Given the description of an element on the screen output the (x, y) to click on. 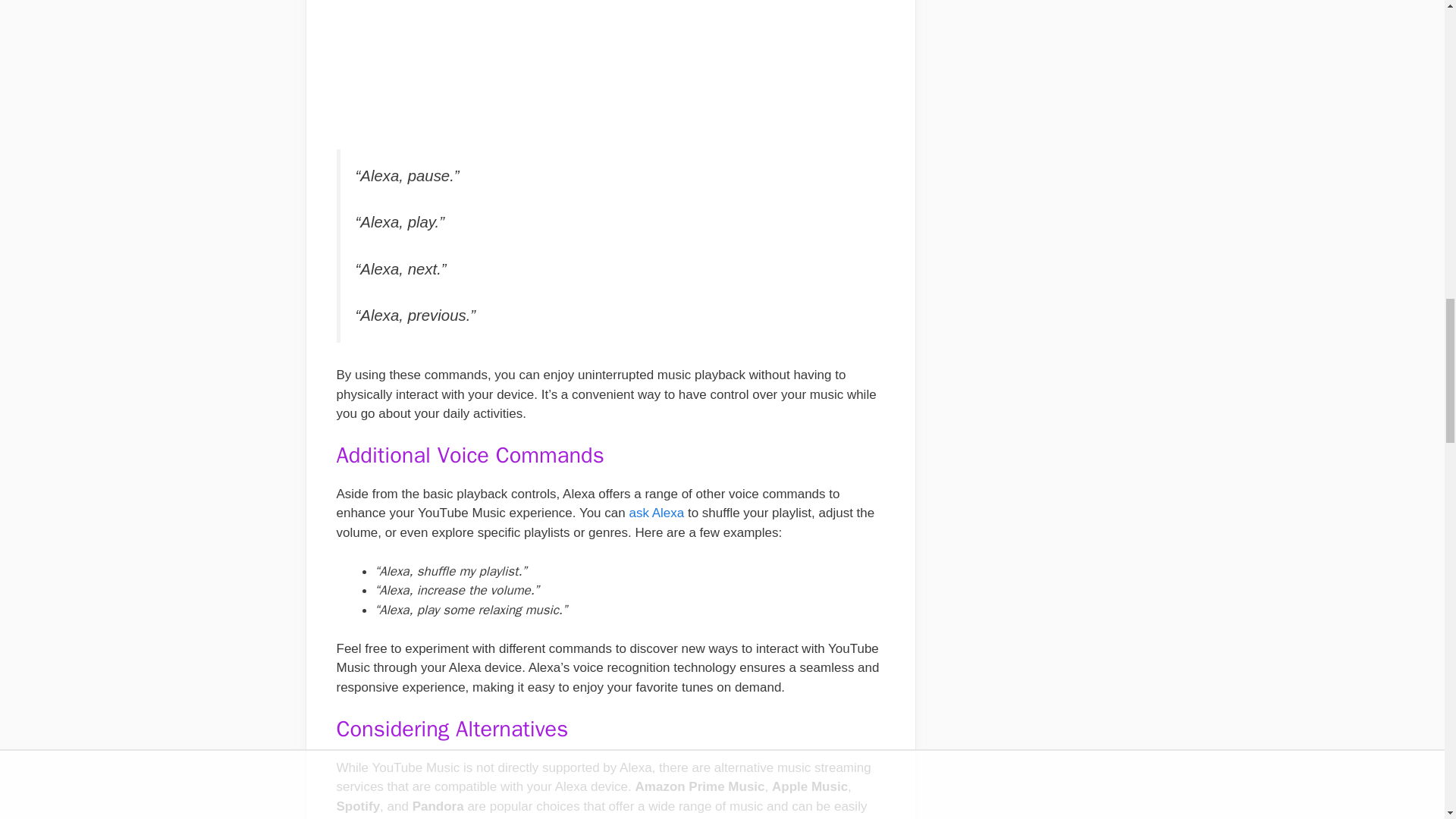
ask Alexa (656, 513)
